Given the description of an element on the screen output the (x, y) to click on. 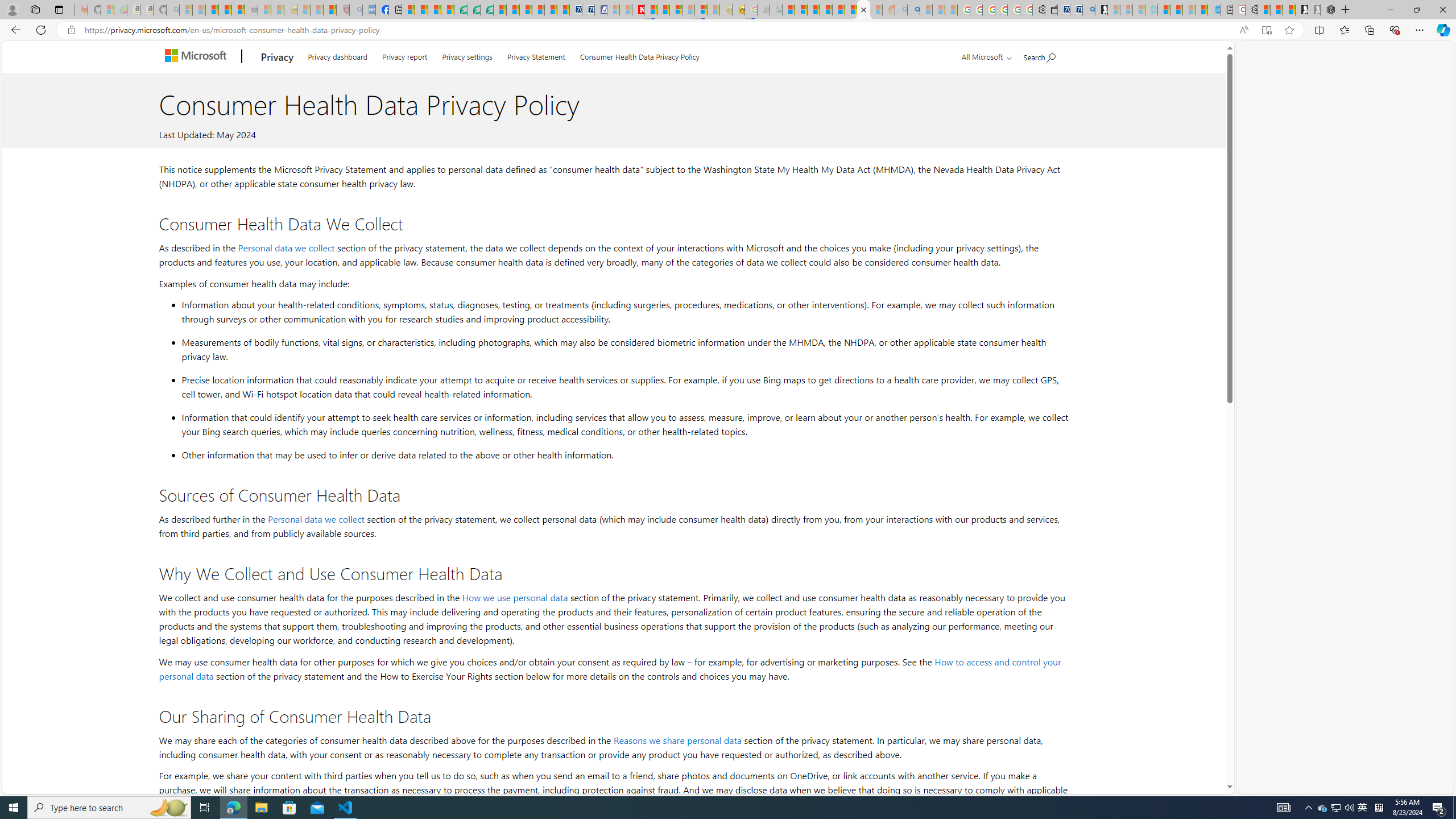
LendingTree - Compare Lenders (460, 9)
Privacy settings (466, 54)
Local - MSN (329, 9)
